Given the description of an element on the screen output the (x, y) to click on. 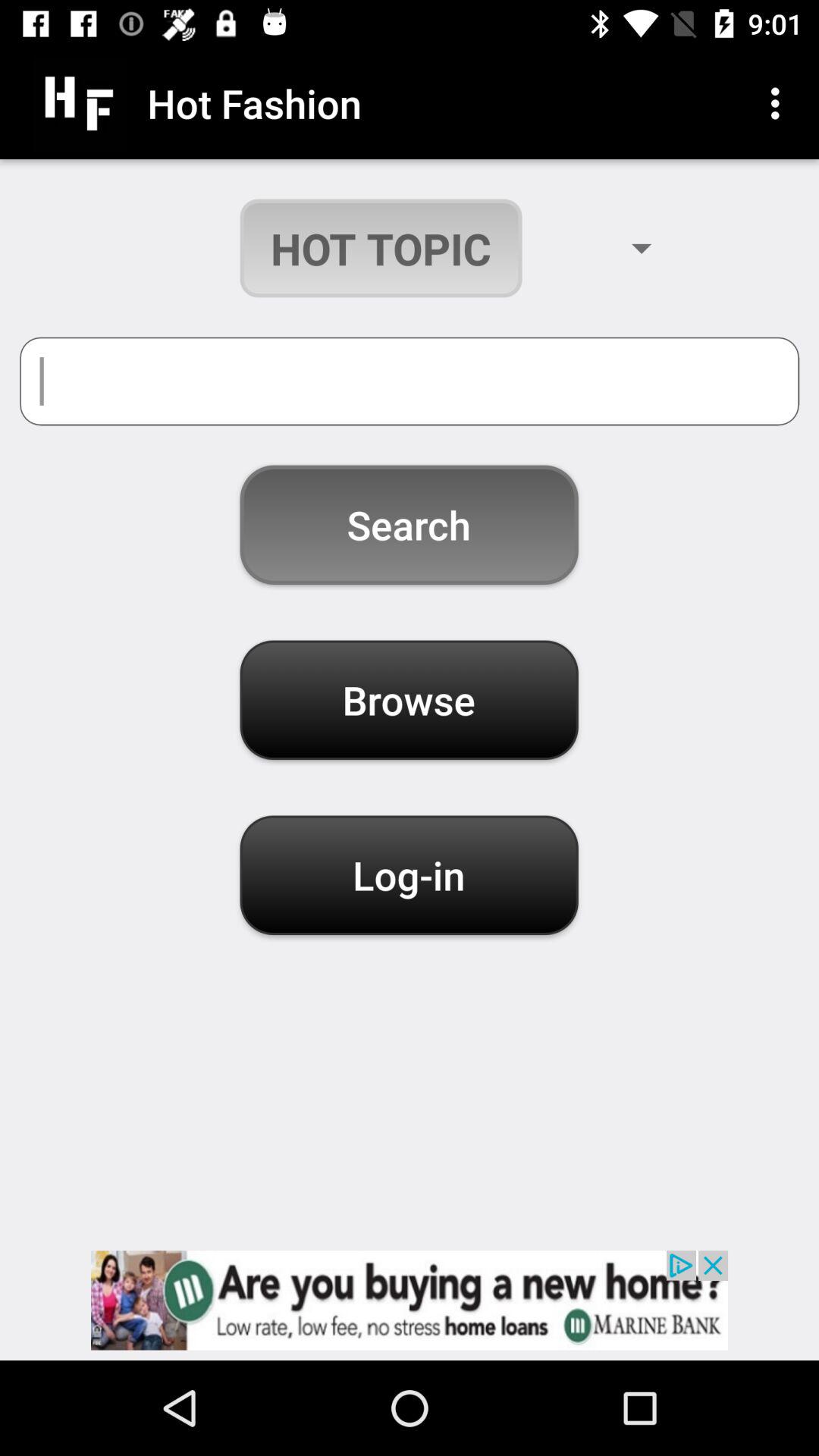
open the advertisement link (409, 1300)
